Given the description of an element on the screen output the (x, y) to click on. 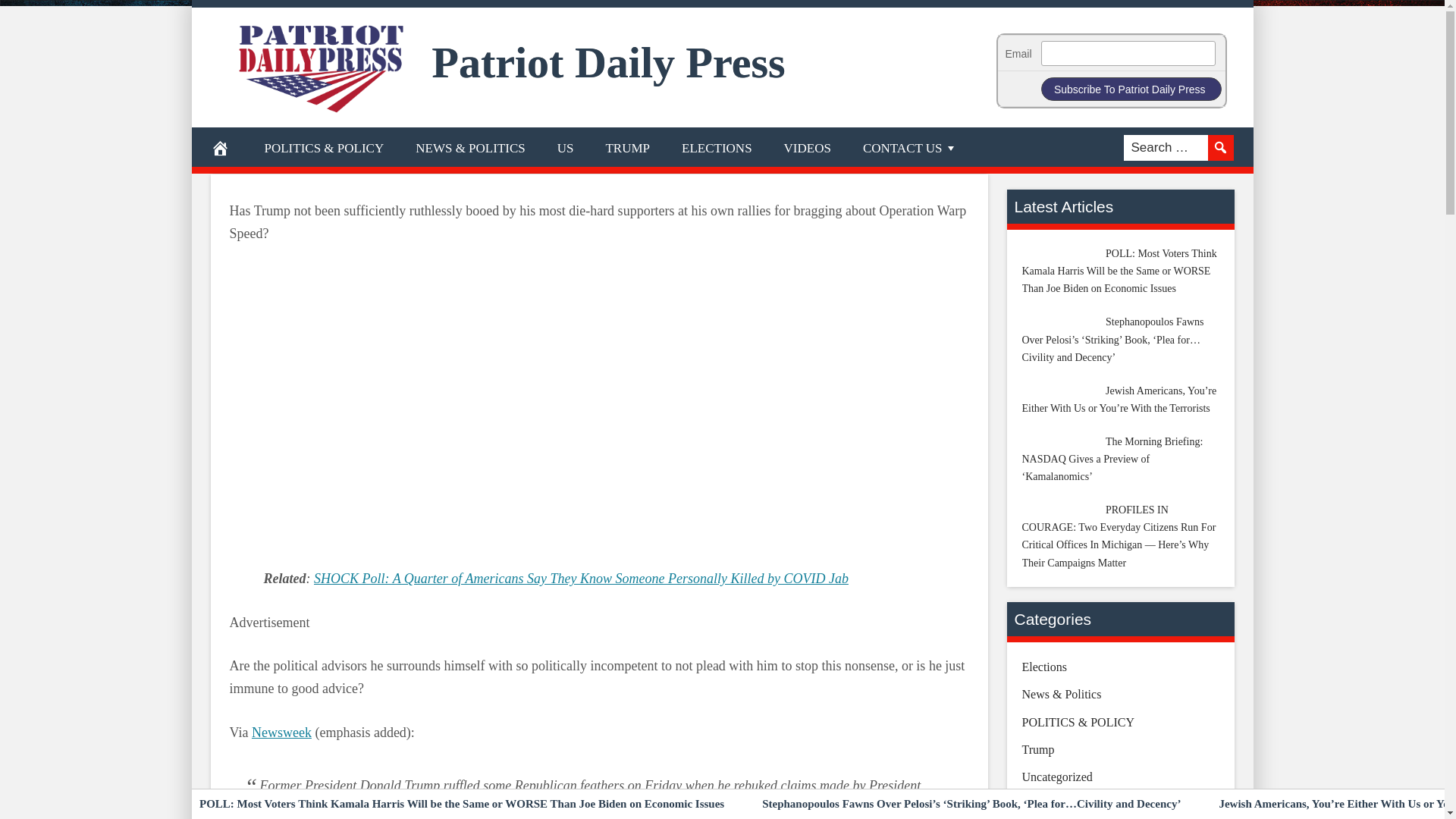
CONTACT US (910, 147)
Patriot Daily Press (609, 61)
US (565, 147)
Subscribe To Patriot Daily Press  (1131, 88)
TRUMP (627, 147)
Subscribe To Patriot Daily Press  (1131, 88)
ELECTIONS (716, 147)
VIDEOS (807, 147)
